Given the description of an element on the screen output the (x, y) to click on. 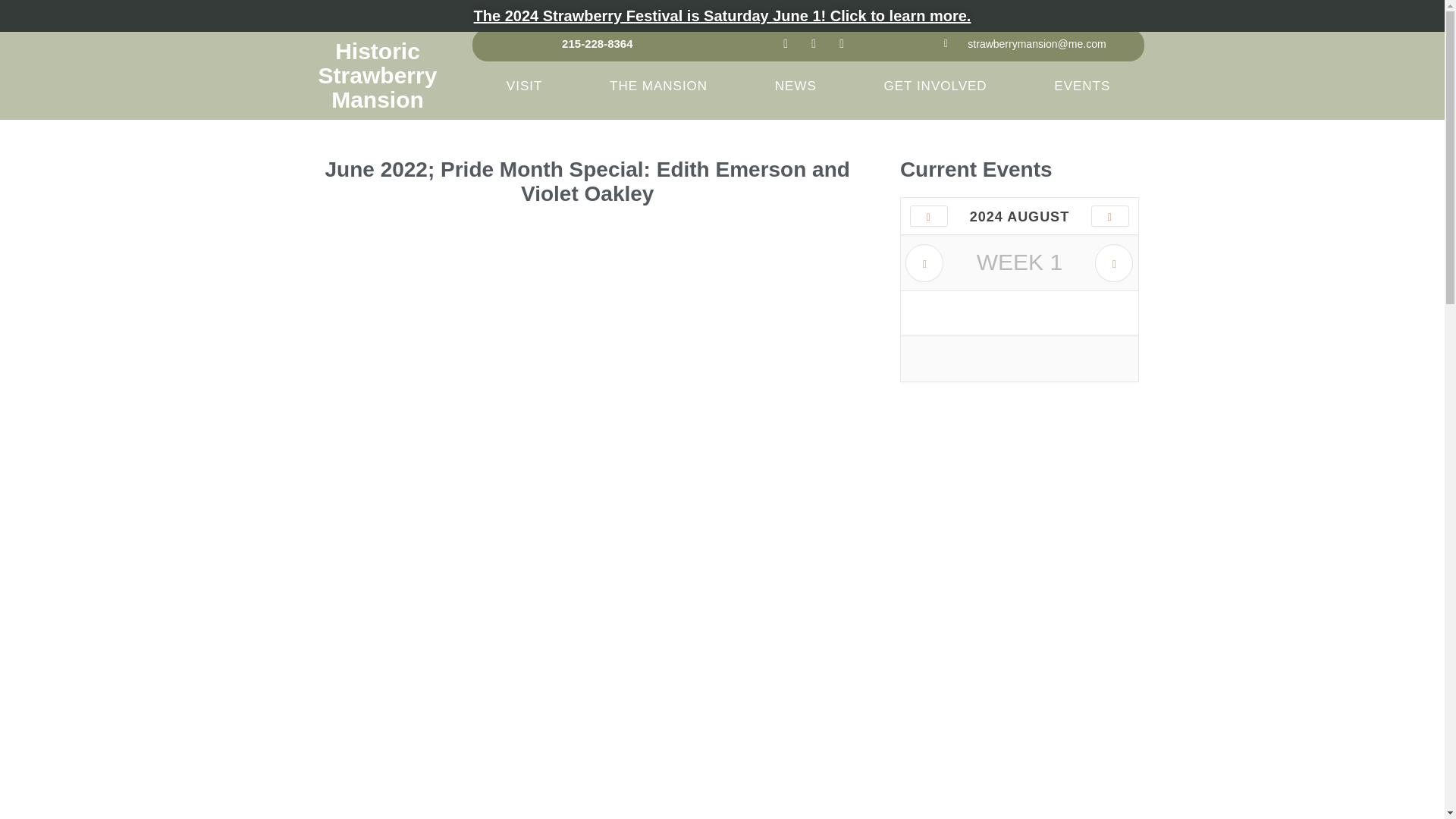
THE MANSION (658, 86)
GET INVOLVED (935, 86)
NEWS (795, 86)
Historic Strawberry Mansion (378, 75)
VISIT (523, 86)
EVENTS (1082, 86)
215-228-8364 (596, 44)
